Given the description of an element on the screen output the (x, y) to click on. 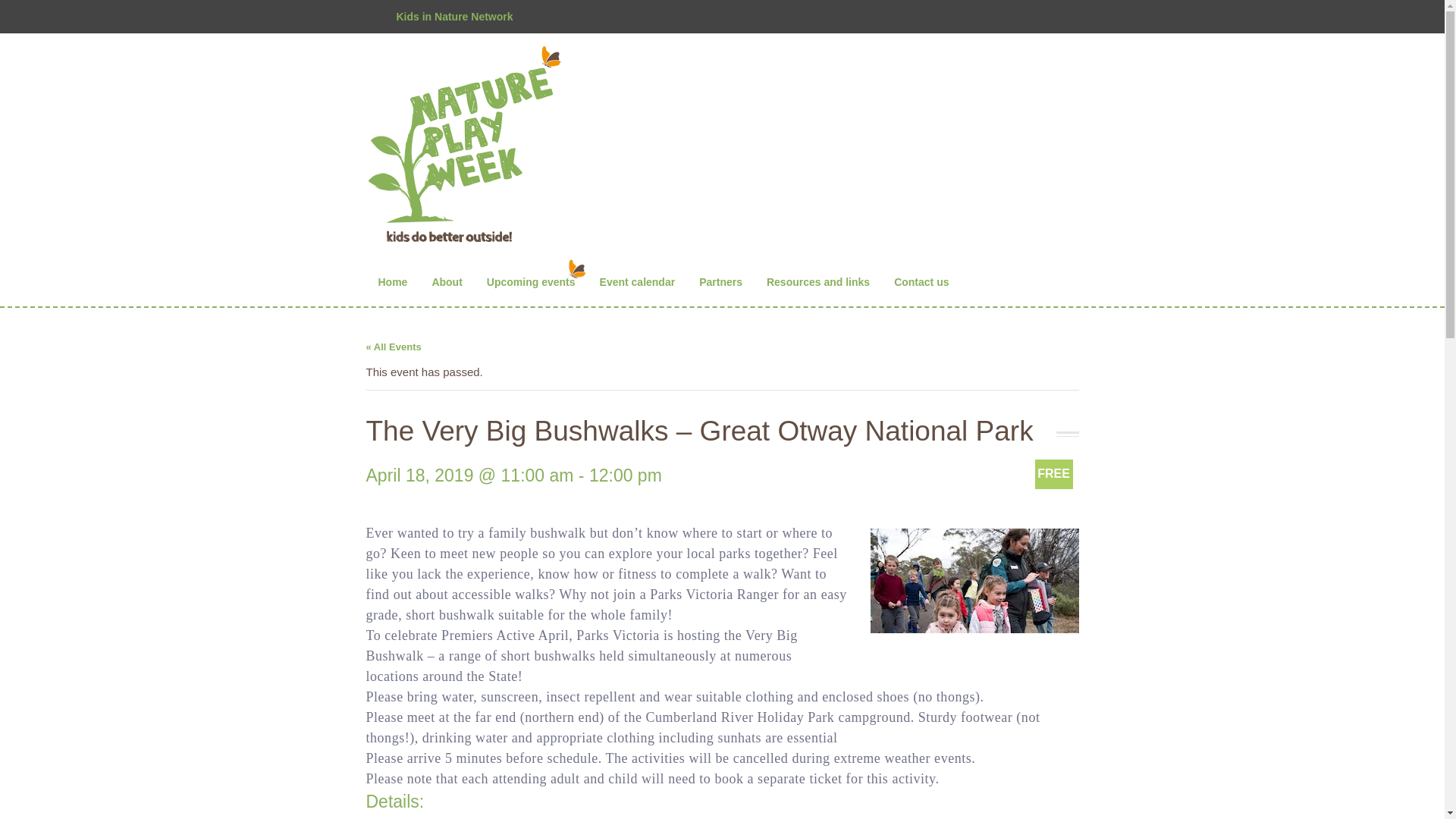
Kids in Nature Network (454, 16)
